Given the description of an element on the screen output the (x, y) to click on. 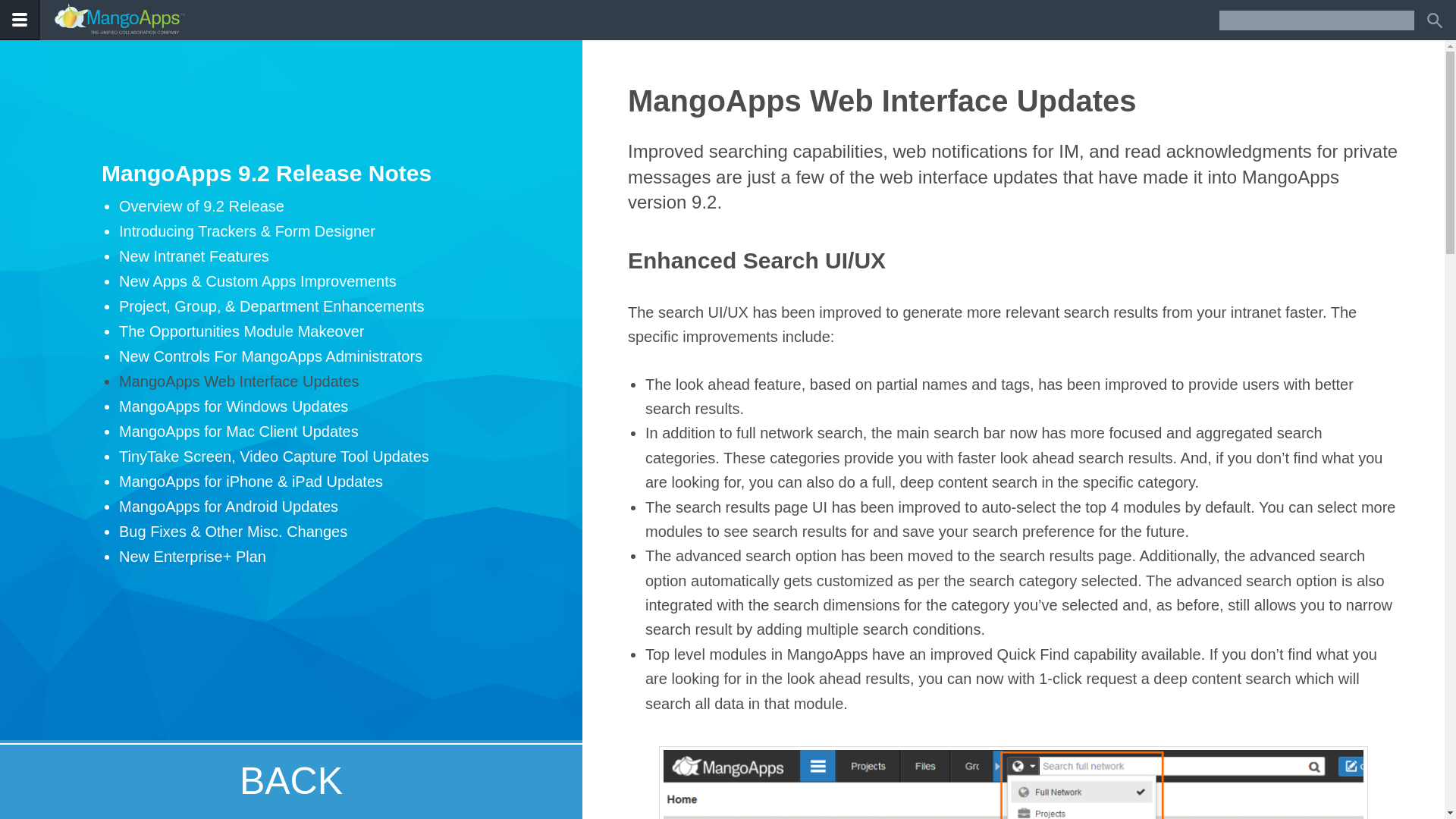
Search (1433, 20)
Overview of 9.2 Release (201, 206)
MangoApps for Android Updates (228, 506)
TinyTake Screen, Video Capture Tool Updates (274, 456)
MangoApps for Mac Client Updates (238, 431)
MangoApps Web Interface Updates (238, 381)
The Opportunities Module Makeover (242, 330)
Search (1433, 20)
Search (1433, 20)
MangoApps for Windows Updates (233, 406)
